Given the description of an element on the screen output the (x, y) to click on. 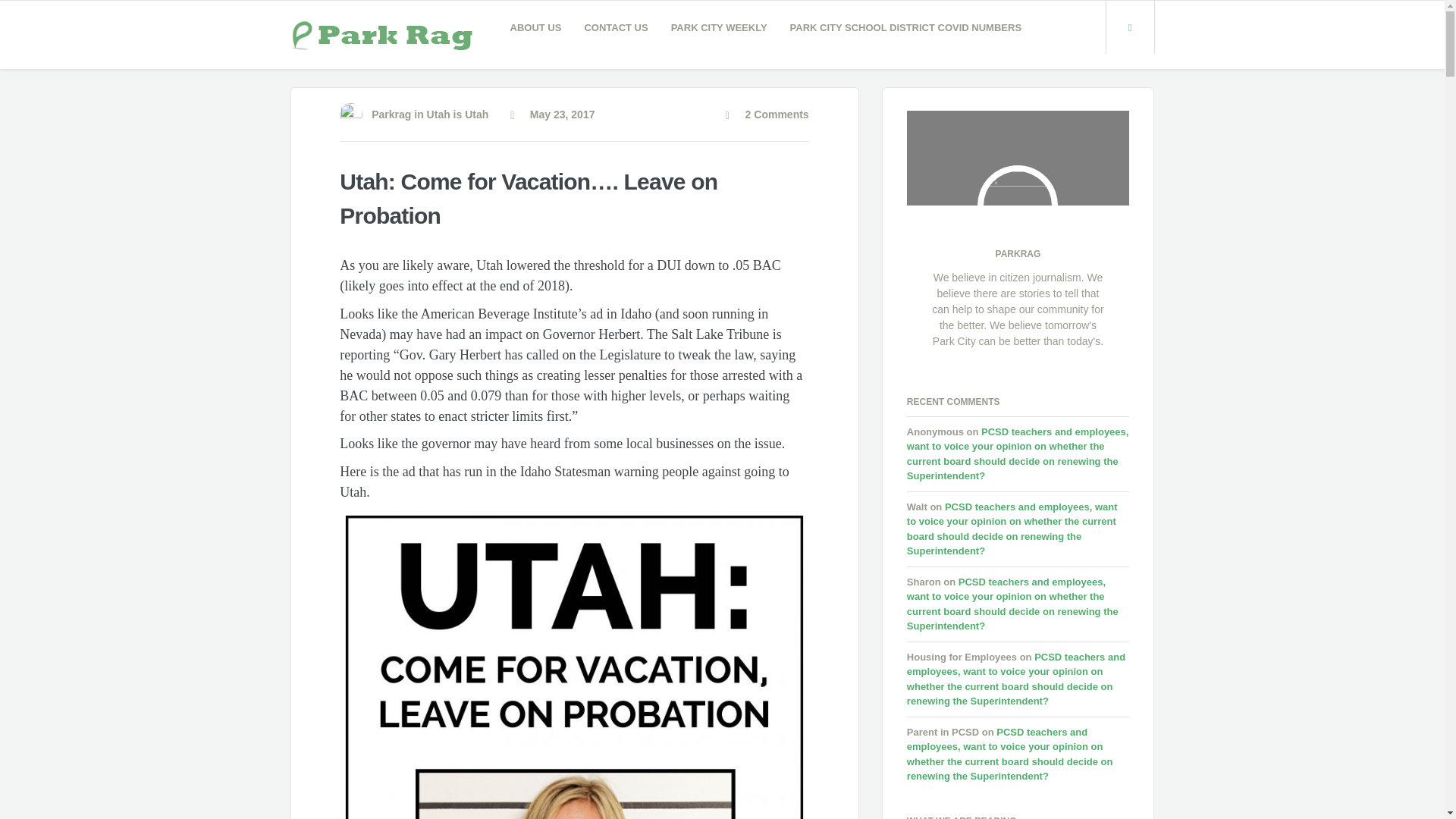
CONTACT US (615, 27)
PARK CITY WEEKLY (718, 27)
PARK CITY SCHOOL DISTRICT COVID NUMBERS (905, 27)
Utah is Utah (457, 114)
Parkrag (390, 114)
  May 23, 2017 (552, 114)
ABOUT US (536, 27)
  2 Comments (767, 114)
